Given the description of an element on the screen output the (x, y) to click on. 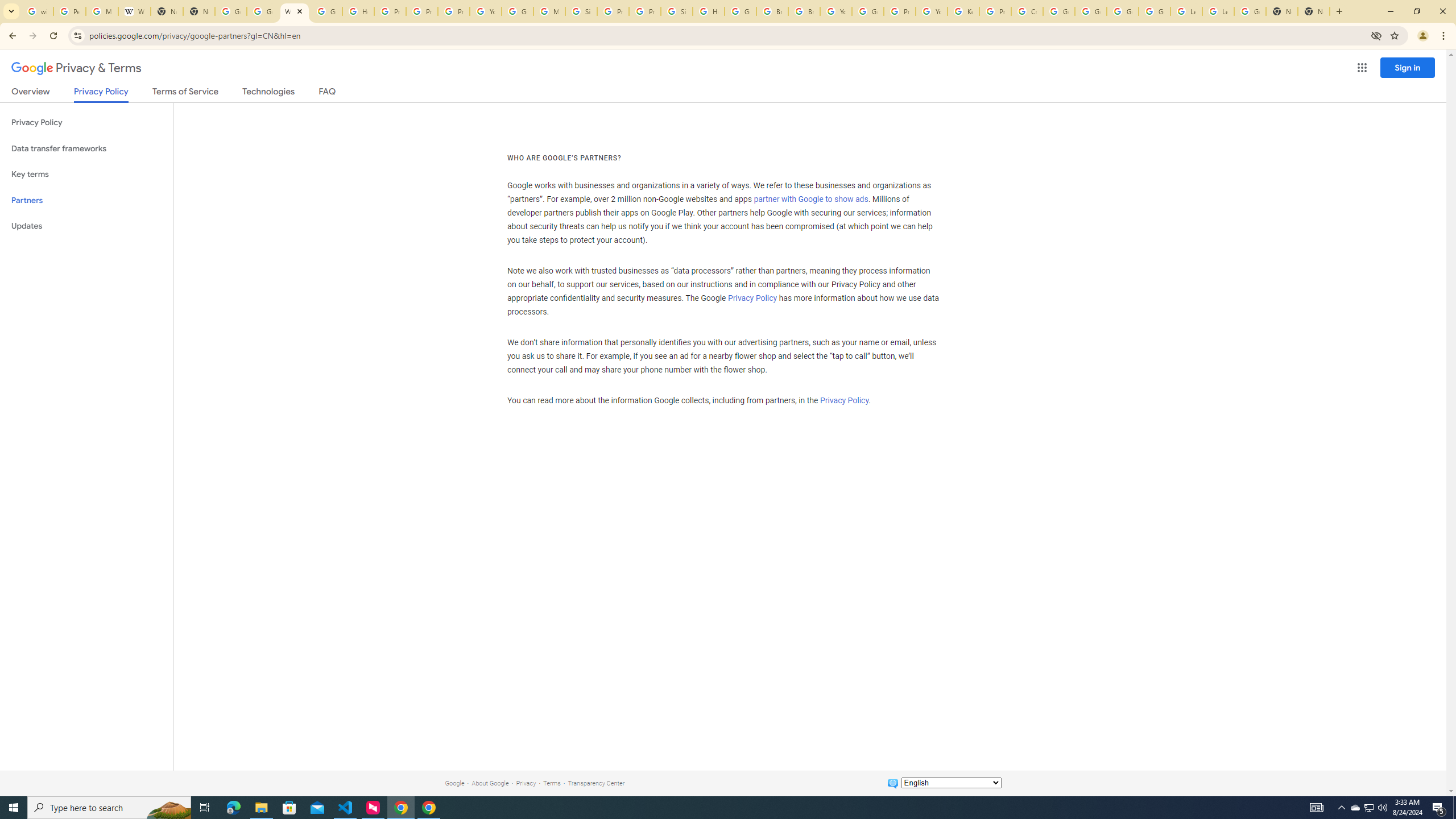
Google Account (1249, 11)
YouTube (836, 11)
Google Account Help (1091, 11)
Change language: (951, 782)
Google Drive: Sign-in (262, 11)
New Tab (1281, 11)
